Given the description of an element on the screen output the (x, y) to click on. 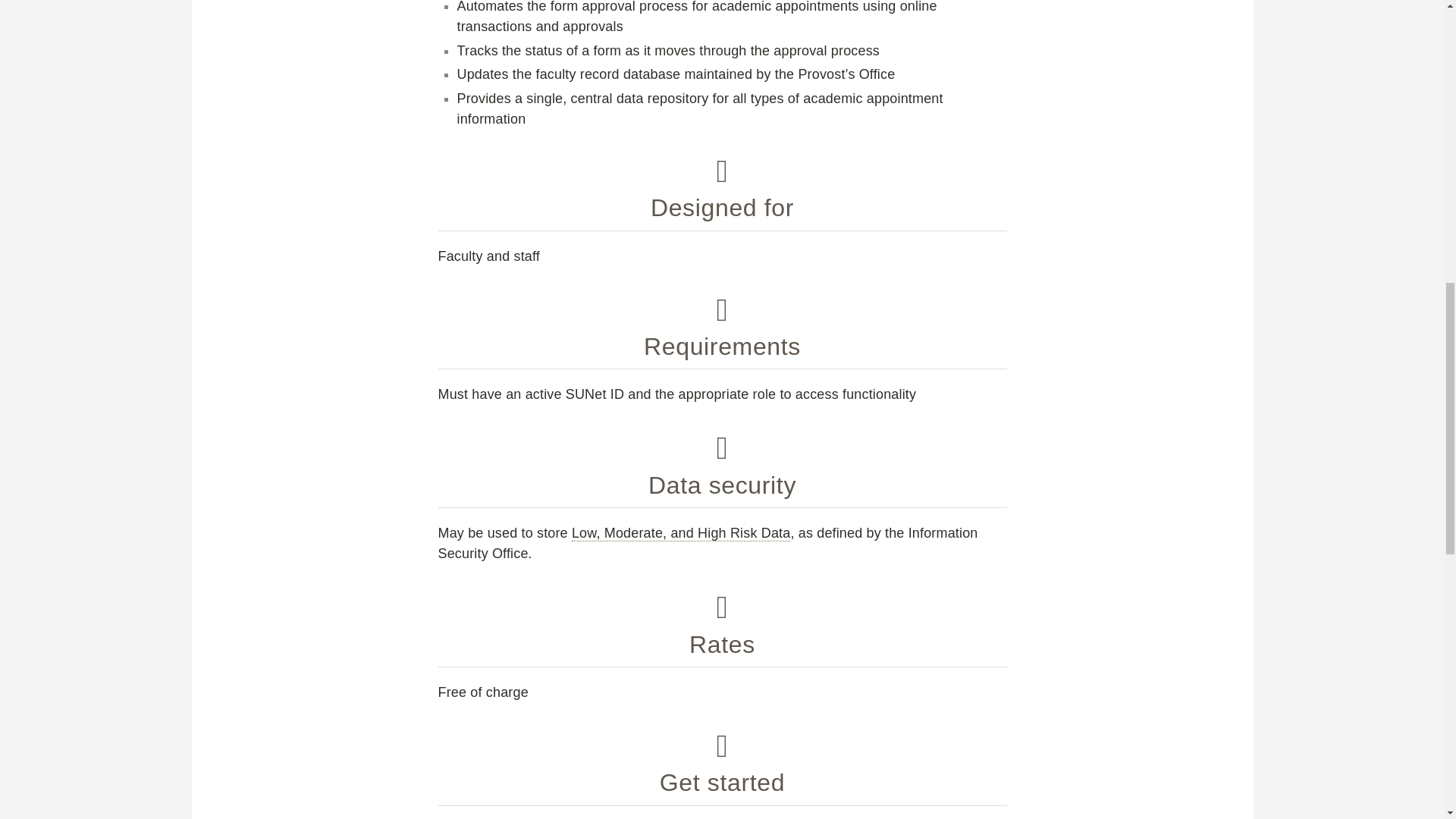
Low, Moderate, and High Risk Data (681, 533)
